Given the description of an element on the screen output the (x, y) to click on. 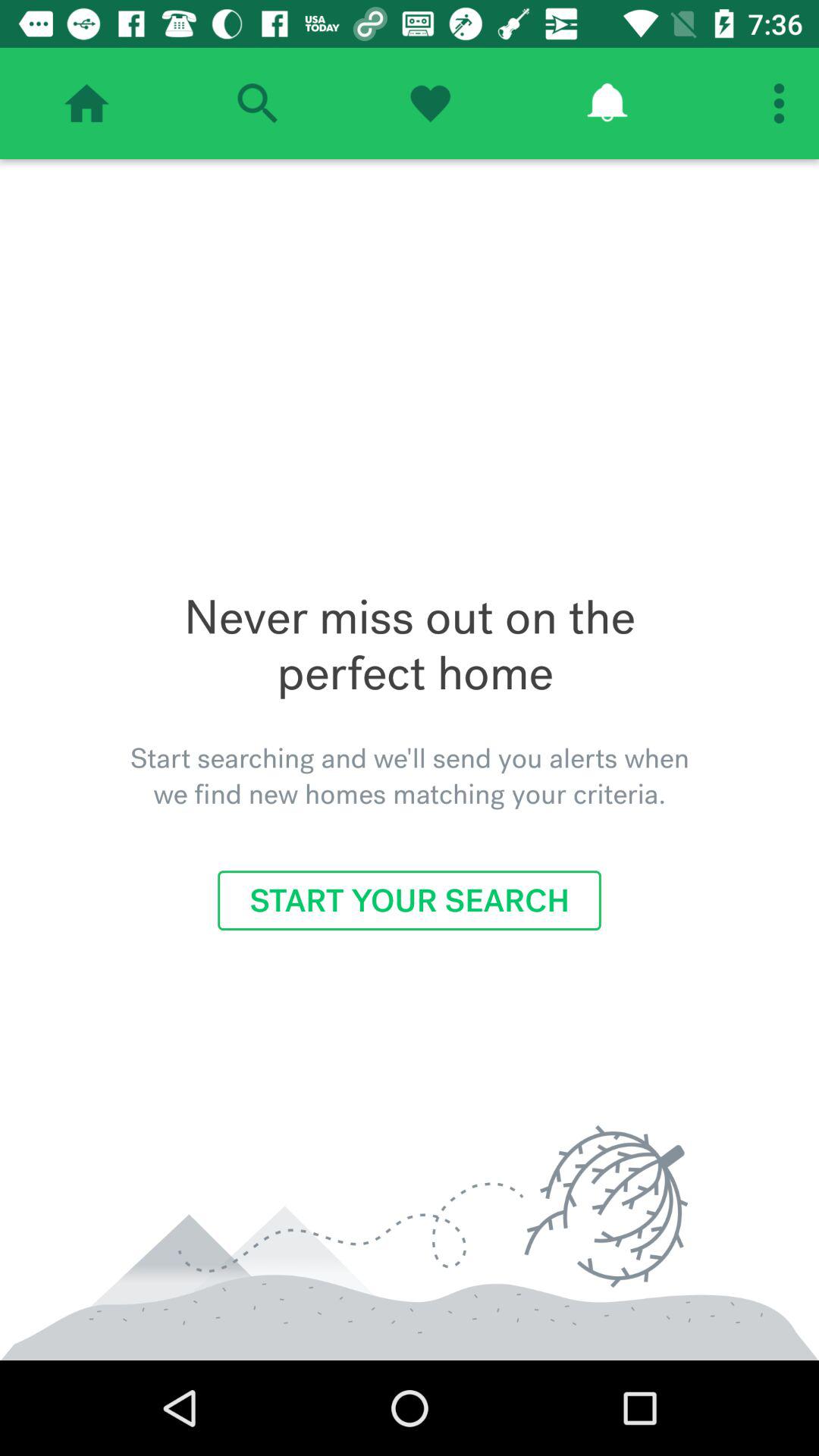
show favorites (429, 103)
